Given the description of an element on the screen output the (x, y) to click on. 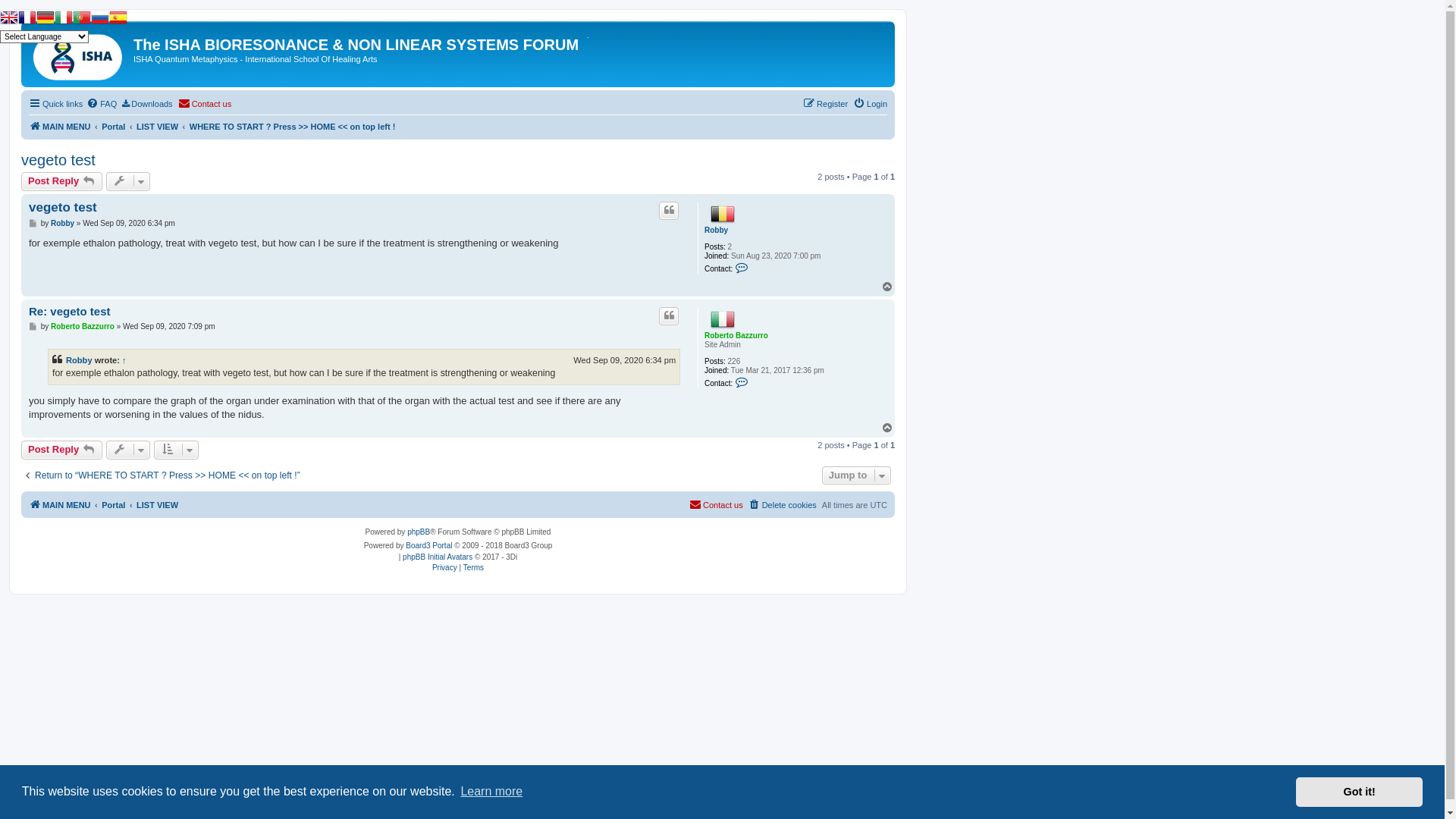
Post Reply Element type: text (61, 449)
MAIN MENU Element type: text (59, 126)
Post Reply Element type: text (61, 181)
Topic tools Element type: hover (128, 181)
Portal Element type: text (113, 504)
Top Element type: text (887, 286)
German Element type: hover (45, 19)
MAIN MENU Element type: hover (79, 54)
Italian Element type: hover (63, 19)
Portuguese Element type: hover (81, 19)
Contact Robby Element type: text (742, 268)
Contact Roberto Bazzurro Element type: text (742, 383)
phpBB Element type: text (418, 531)
French Element type: hover (27, 19)
Quote Element type: text (668, 210)
Robby Element type: text (62, 223)
Spanish Element type: hover (118, 19)
Privacy Element type: text (445, 567)
Russian Element type: hover (100, 19)
FAQ Element type: text (101, 103)
MAIN MENU Element type: text (59, 504)
Terms Element type: text (473, 567)
phpBB Initial Avatars Element type: text (437, 556)
LIST VIEW Element type: text (157, 126)
Post Element type: text (34, 326)
Post Element type: text (34, 223)
Got it! Element type: text (1358, 791)
Roberto Bazzurro Element type: text (82, 326)
Robby Element type: text (716, 229)
Delete cookies Element type: text (782, 504)
Italy Element type: hover (722, 319)
Roberto Bazzurro Element type: text (736, 335)
Robby Element type: text (78, 359)
Board3 Portal Element type: text (428, 545)
Login Element type: text (870, 103)
SiteLock Element type: hover (587, 37)
LIST VIEW Element type: text (157, 504)
Belgium Element type: hover (722, 213)
Downloads Element type: text (147, 103)
Register Element type: text (825, 103)
Quote Element type: text (668, 316)
Contact us Element type: text (716, 504)
Re: vegeto test Element type: text (69, 310)
English Element type: hover (9, 19)
Topic tools Element type: hover (128, 449)
Contact us Element type: text (205, 103)
WHERE TO START ? Press >> HOME << on top left ! Element type: text (292, 126)
Portal Element type: text (113, 126)
vegeto test Element type: text (58, 159)
vegeto test Element type: text (62, 207)
Display and sorting options Element type: hover (175, 449)
Quick links Element type: text (55, 103)
Top Element type: text (887, 427)
Learn more Element type: text (491, 791)
